Given the description of an element on the screen output the (x, y) to click on. 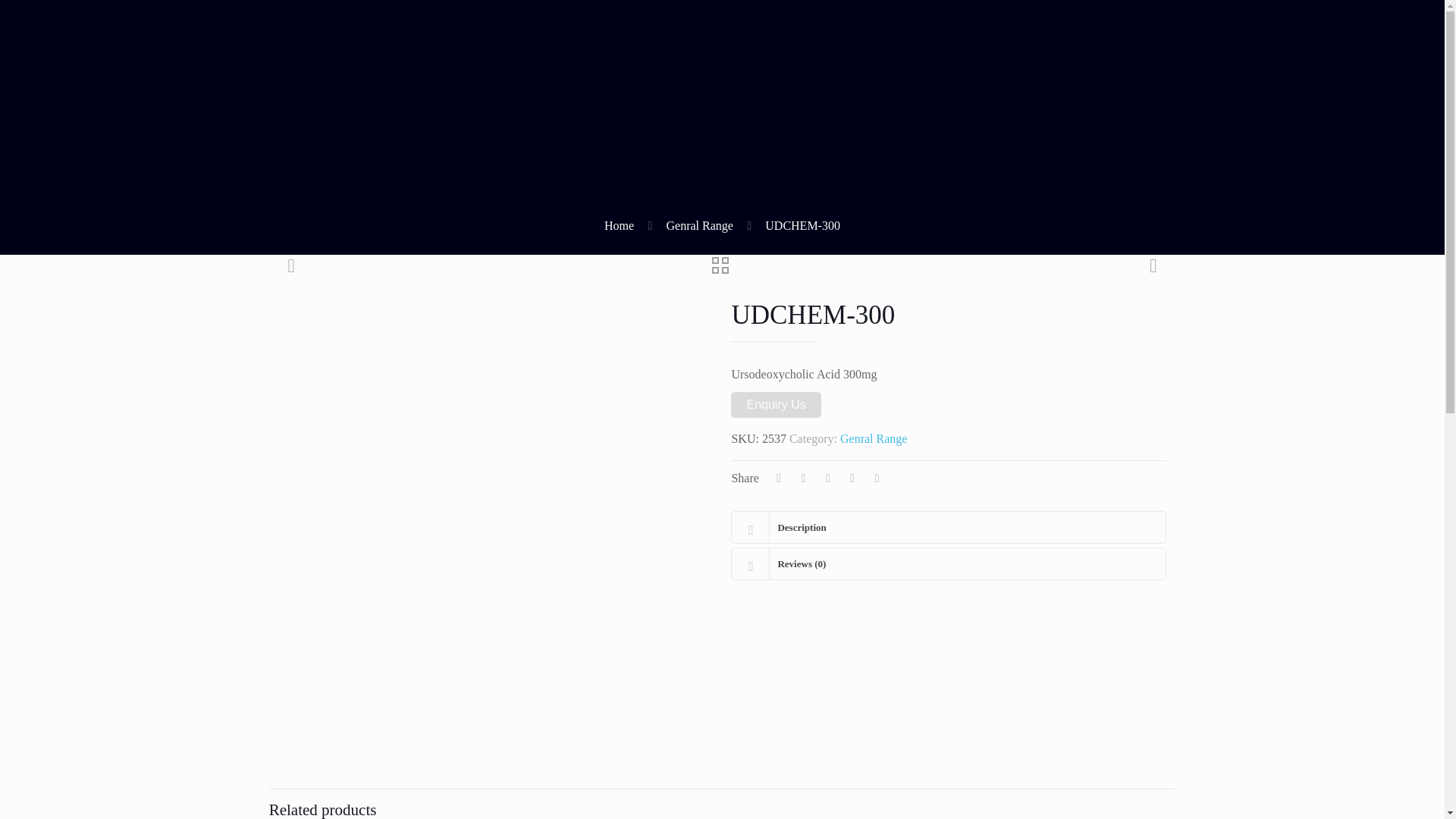
Enquiry Us (775, 404)
Genral Range (698, 225)
Genral Range (873, 438)
Home (618, 225)
